Given the description of an element on the screen output the (x, y) to click on. 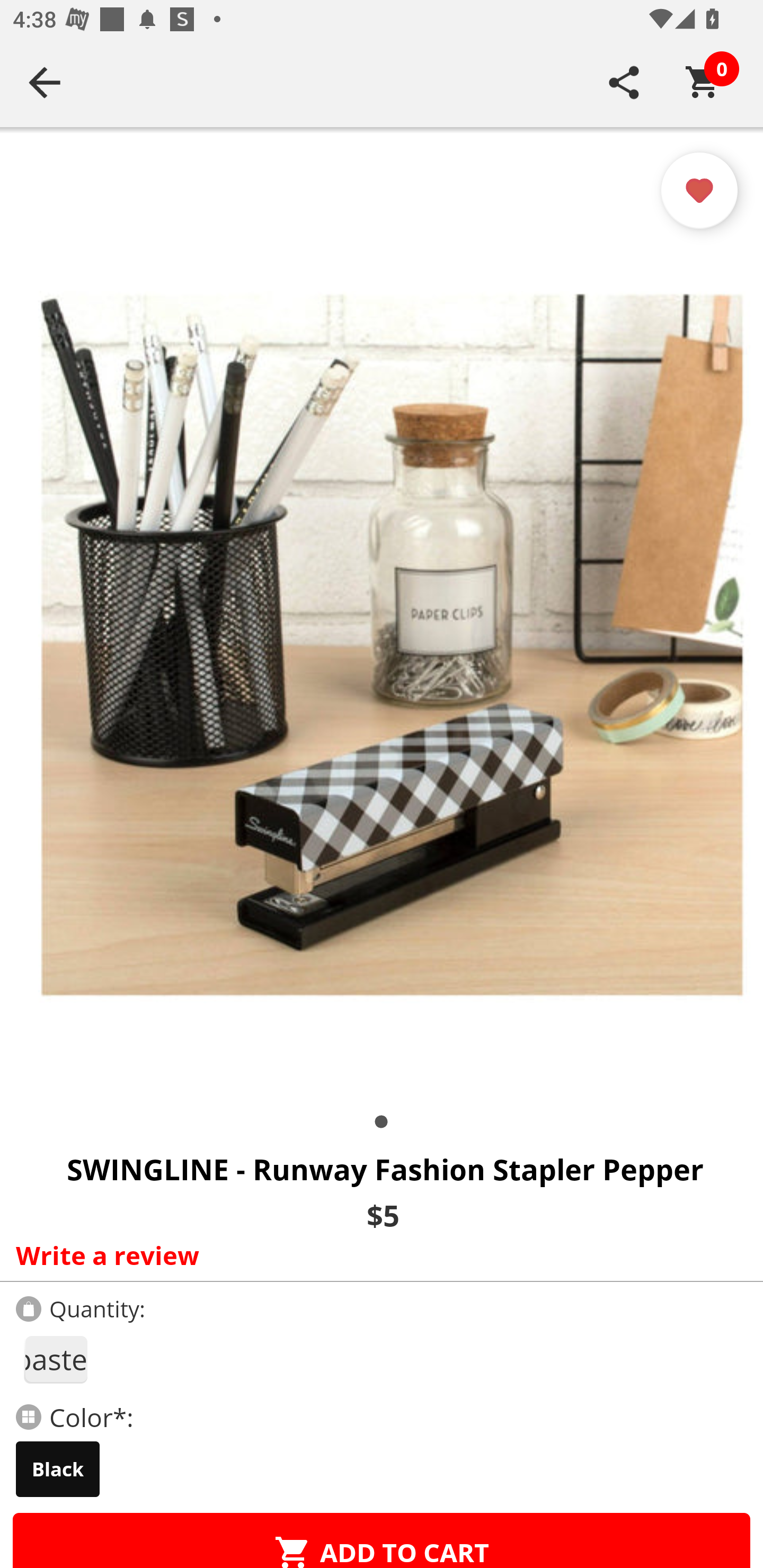
Navigate up (44, 82)
SHARE (623, 82)
Cart (703, 81)
Write a review (377, 1255)
1lamptoothpaste (55, 1358)
Black (57, 1468)
ADD TO CART (381, 1540)
